Given the description of an element on the screen output the (x, y) to click on. 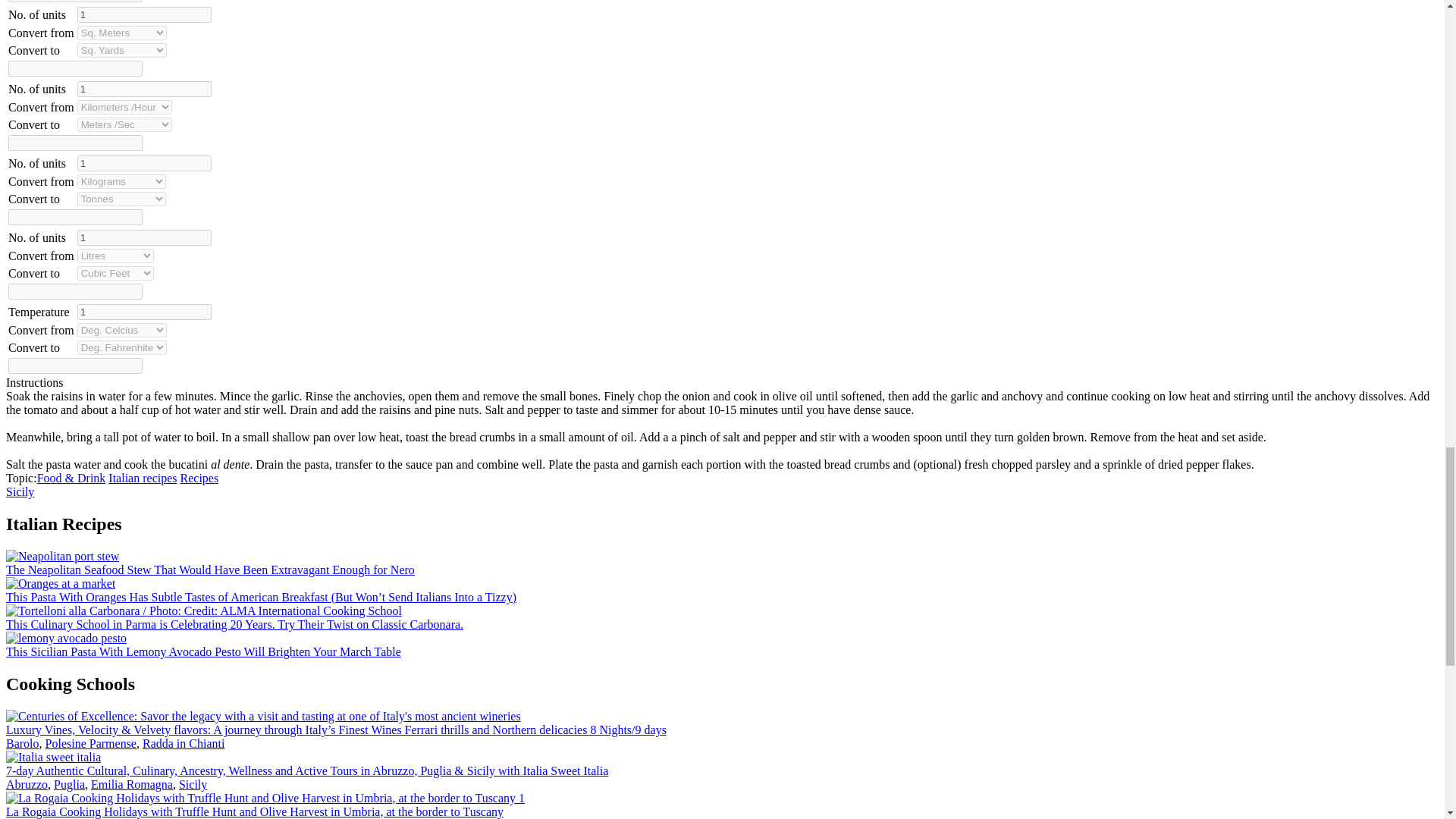
1 (144, 237)
1 (144, 163)
1 (144, 89)
1 (144, 311)
1 (144, 14)
Tasting-ancient-wineries-yourcustomjourney (263, 716)
